Given the description of an element on the screen output the (x, y) to click on. 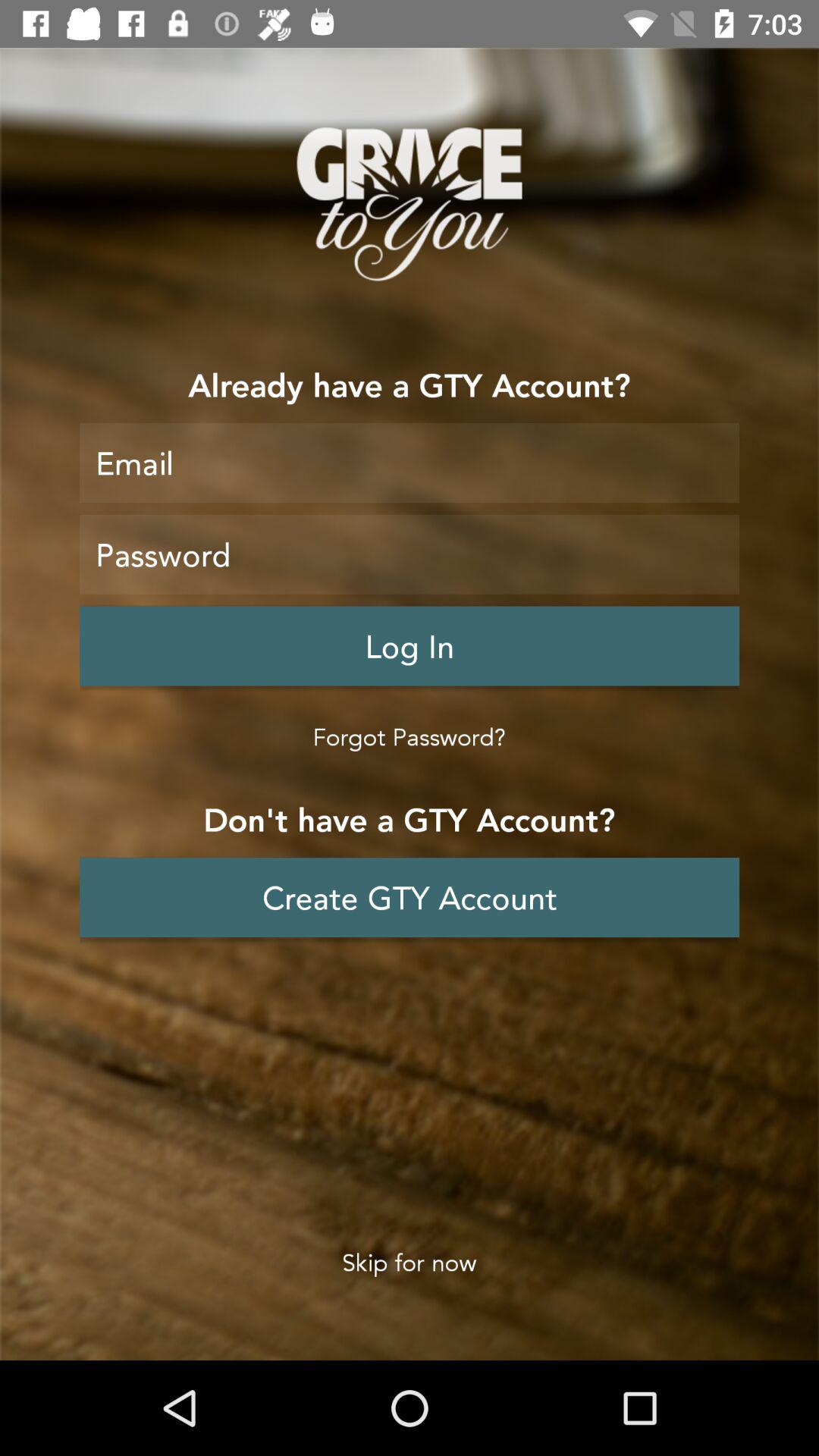
box of text for email (409, 462)
